Given the description of an element on the screen output the (x, y) to click on. 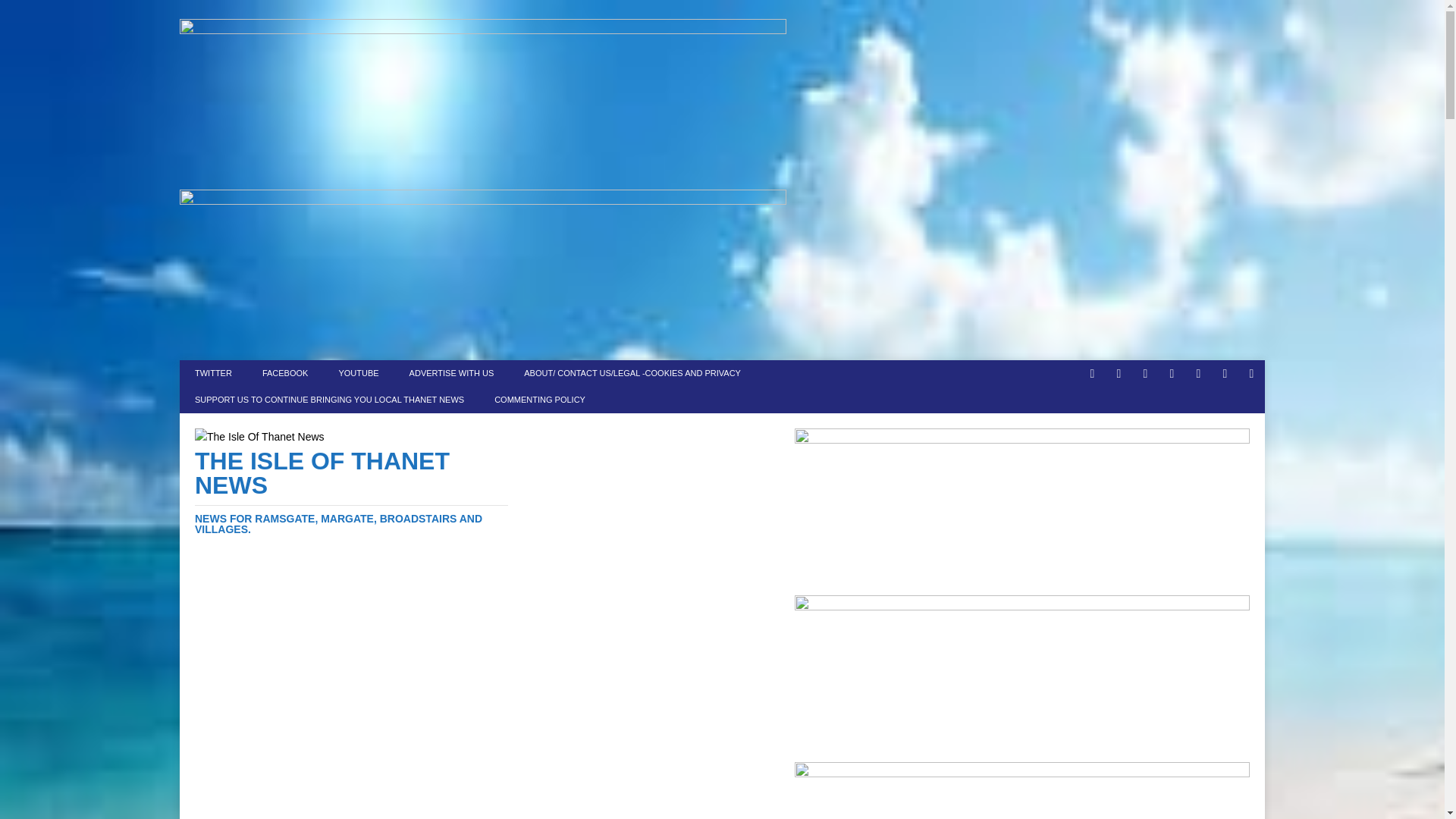
COMMENTING POLICY (539, 399)
SUPPORT US TO CONTINUE BRINGING YOU LOCAL THANET NEWS (329, 399)
TWITTER (213, 373)
YOUTUBE (358, 373)
The Isle Of Thanet News (351, 491)
ADVERTISE WITH US (451, 373)
FACEBOOK (285, 373)
